Given the description of an element on the screen output the (x, y) to click on. 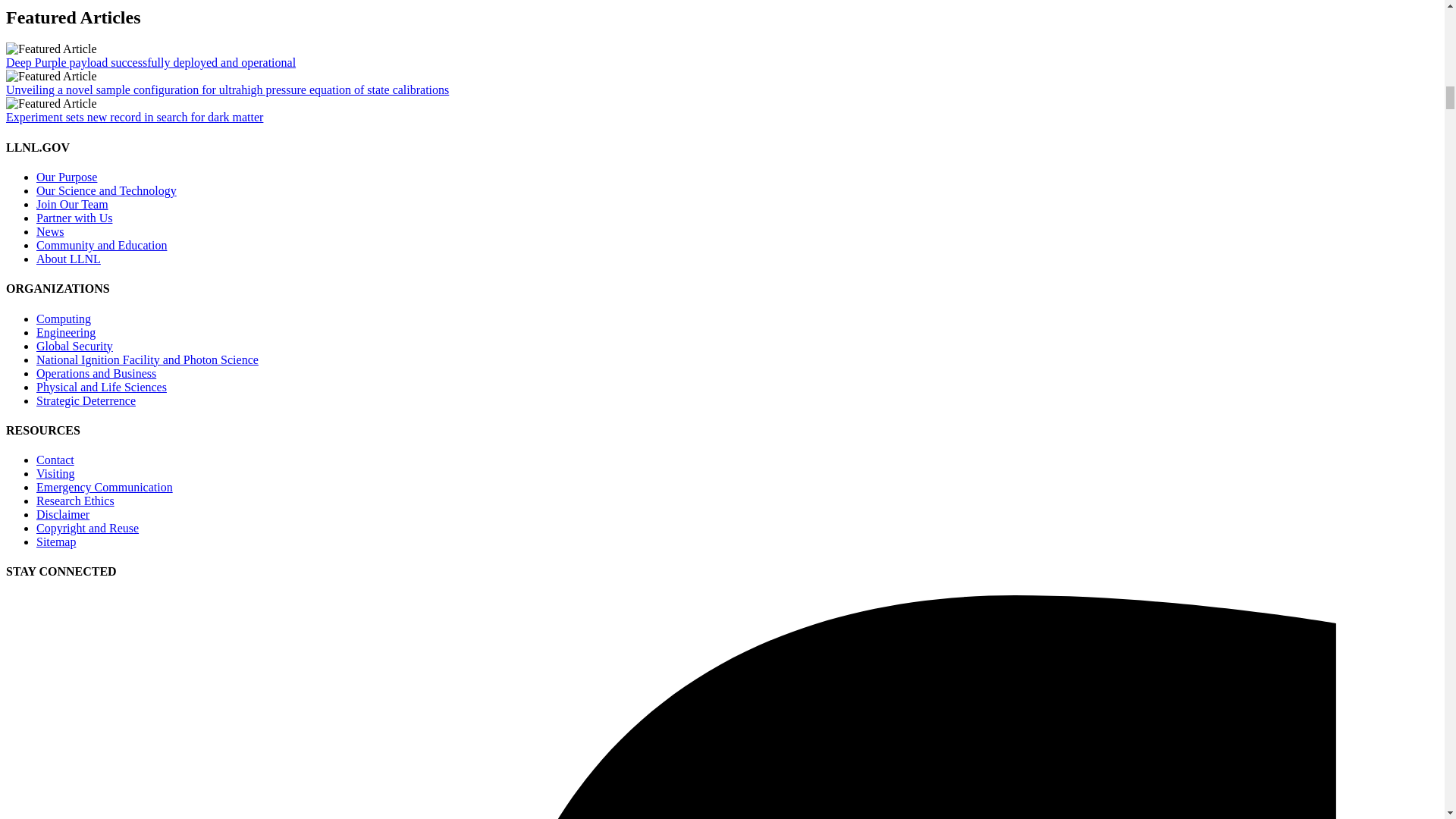
Science and Technology (106, 190)
Computation (63, 318)
Partner with Us (74, 217)
Lasers (147, 359)
Our Purpose (66, 176)
About (68, 258)
News (50, 231)
Community and Education (101, 245)
Careers (71, 204)
Physical and Life Sciences (101, 386)
